Given the description of an element on the screen output the (x, y) to click on. 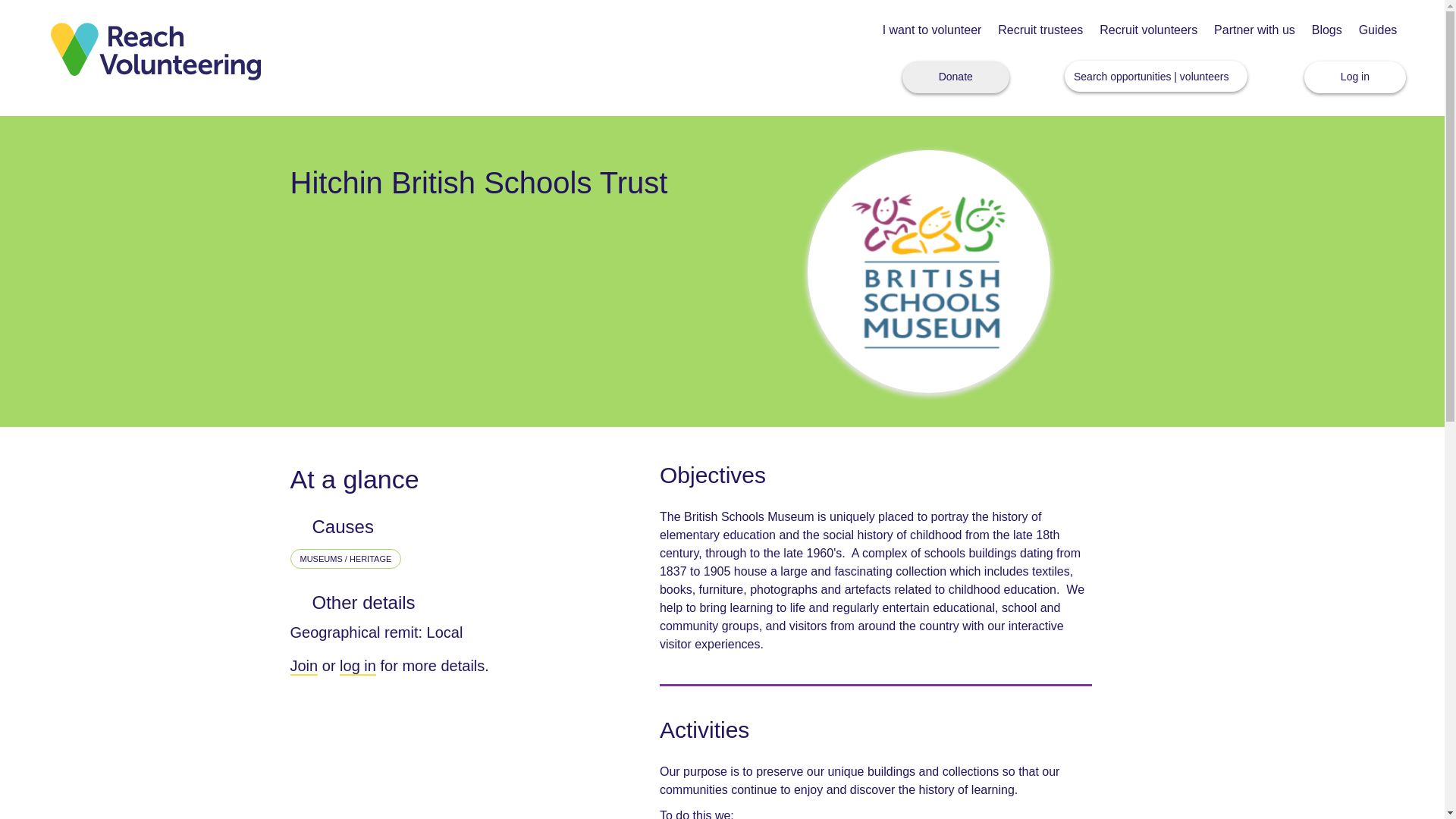
Log in (1355, 77)
opportunities (1139, 76)
Blogs (1326, 29)
Recruit volunteers (1147, 29)
Donate (955, 77)
Home (155, 50)
Guides (1377, 29)
Partner with us (1254, 29)
log in (357, 666)
